Given the description of an element on the screen output the (x, y) to click on. 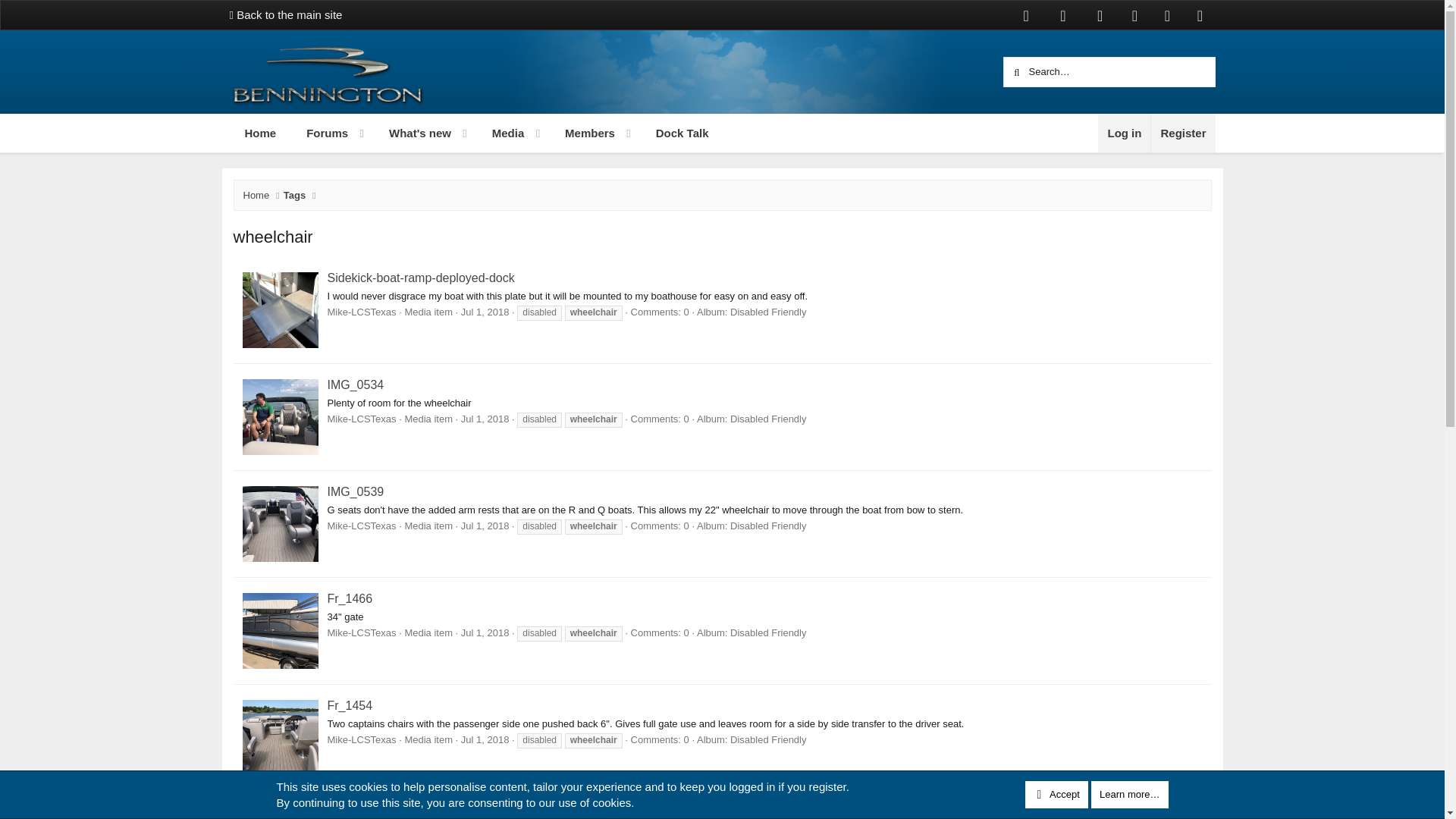
Register (1182, 132)
Jul 1, 2018 at 12:17 AM (485, 419)
Jul 1, 2018 at 12:12 AM (485, 739)
RSS (1199, 14)
Instagram (1134, 14)
youtube (475, 149)
Media (1100, 14)
Jul 1, 2018 at 12:16 AM (501, 132)
Jul 1, 2018 at 12:20 AM (485, 525)
Facebook (485, 311)
Members (1026, 14)
Log in (582, 132)
Home (1123, 132)
Jul 1, 2018 at 12:13 AM (259, 132)
